Given the description of an element on the screen output the (x, y) to click on. 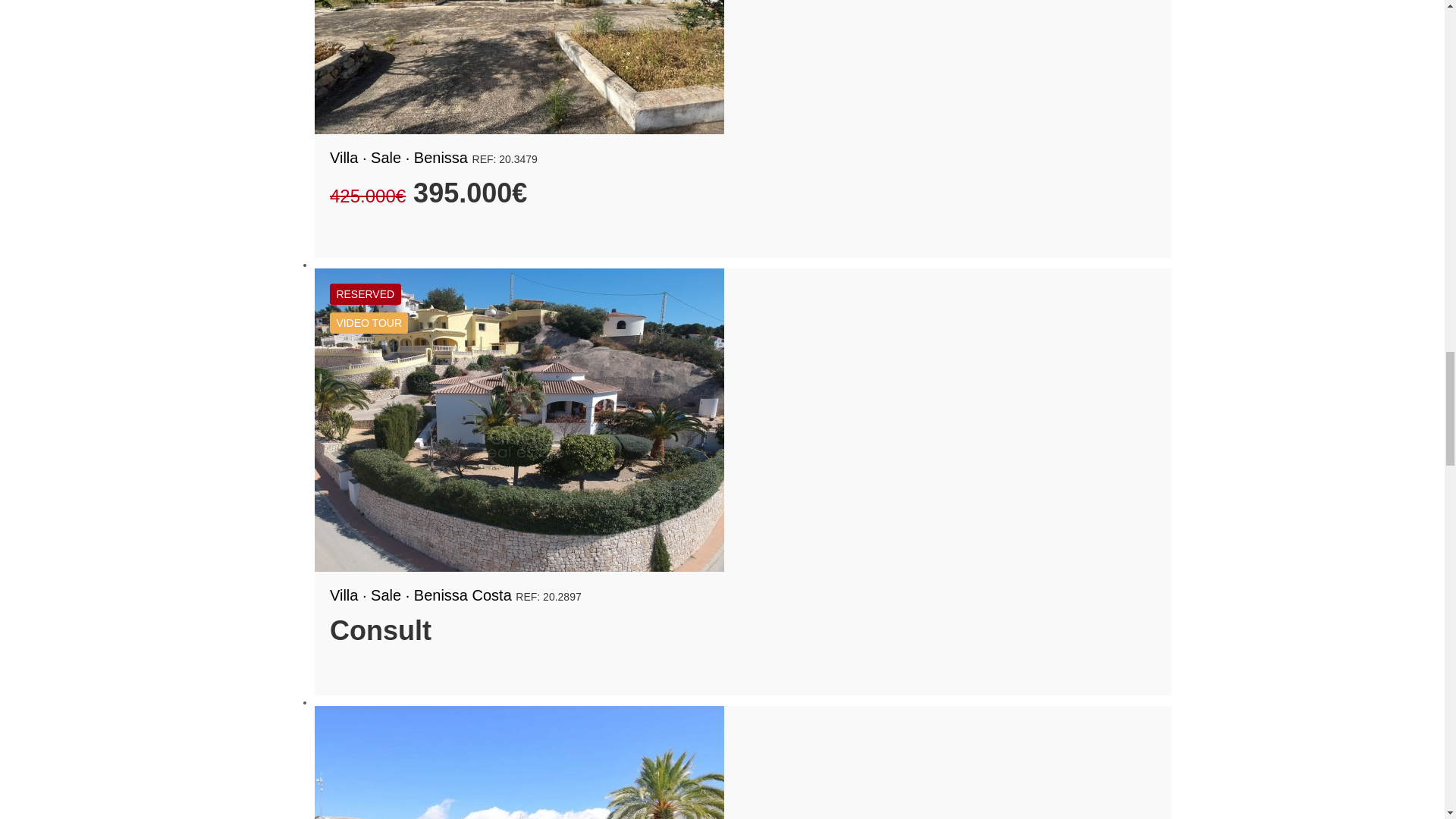
Apartment - Sale - Benissa - Parques Casablanca (518, 762)
Villa - Sale - Benissa - Benissa Costa (518, 419)
Villa - Sale - Benissa - Benissa (518, 67)
